Given the description of an element on the screen output the (x, y) to click on. 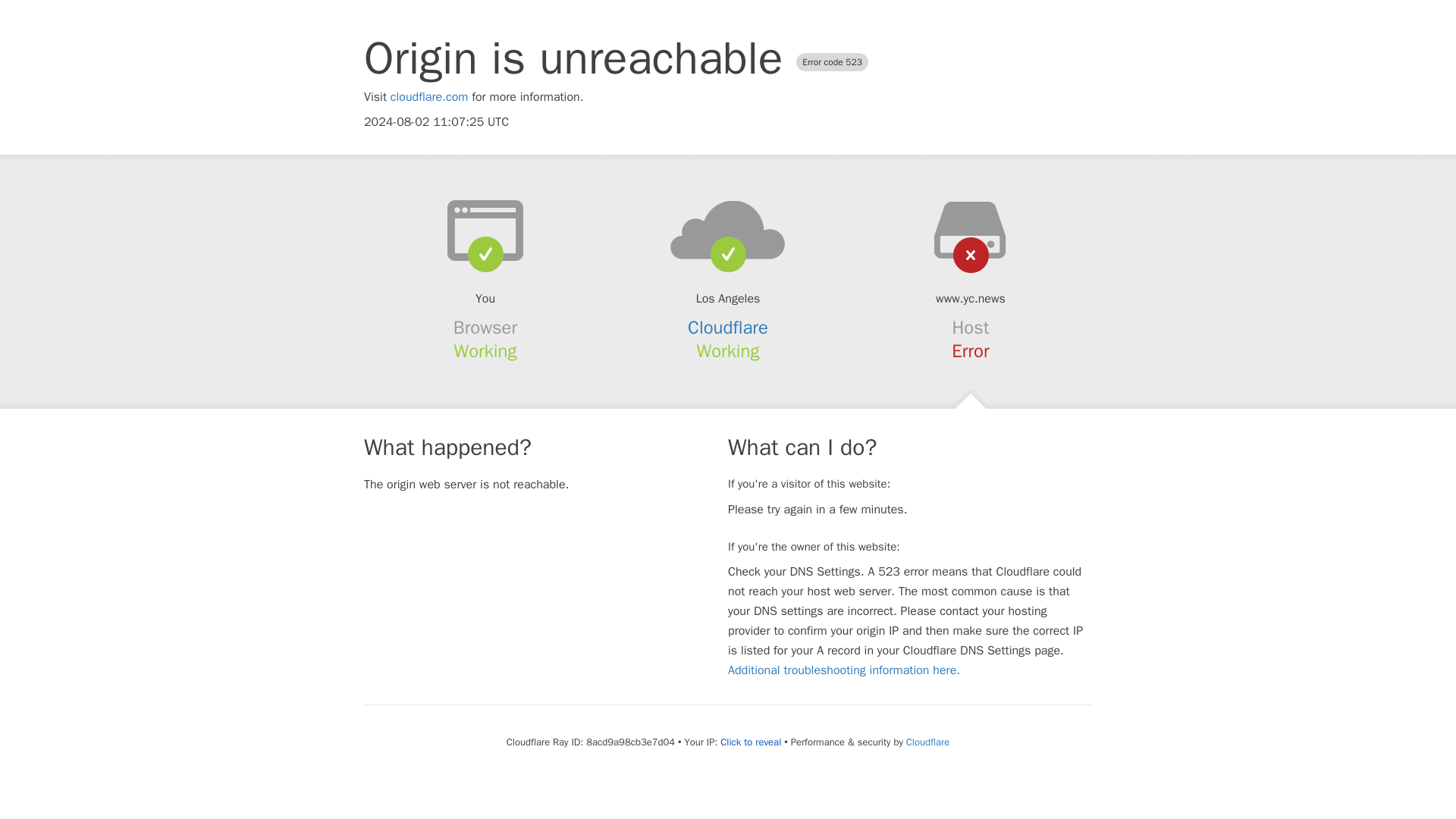
Additional troubleshooting information here. (843, 670)
Cloudflare (727, 327)
Click to reveal (750, 742)
Cloudflare (927, 741)
cloudflare.com (429, 96)
